Given the description of an element on the screen output the (x, y) to click on. 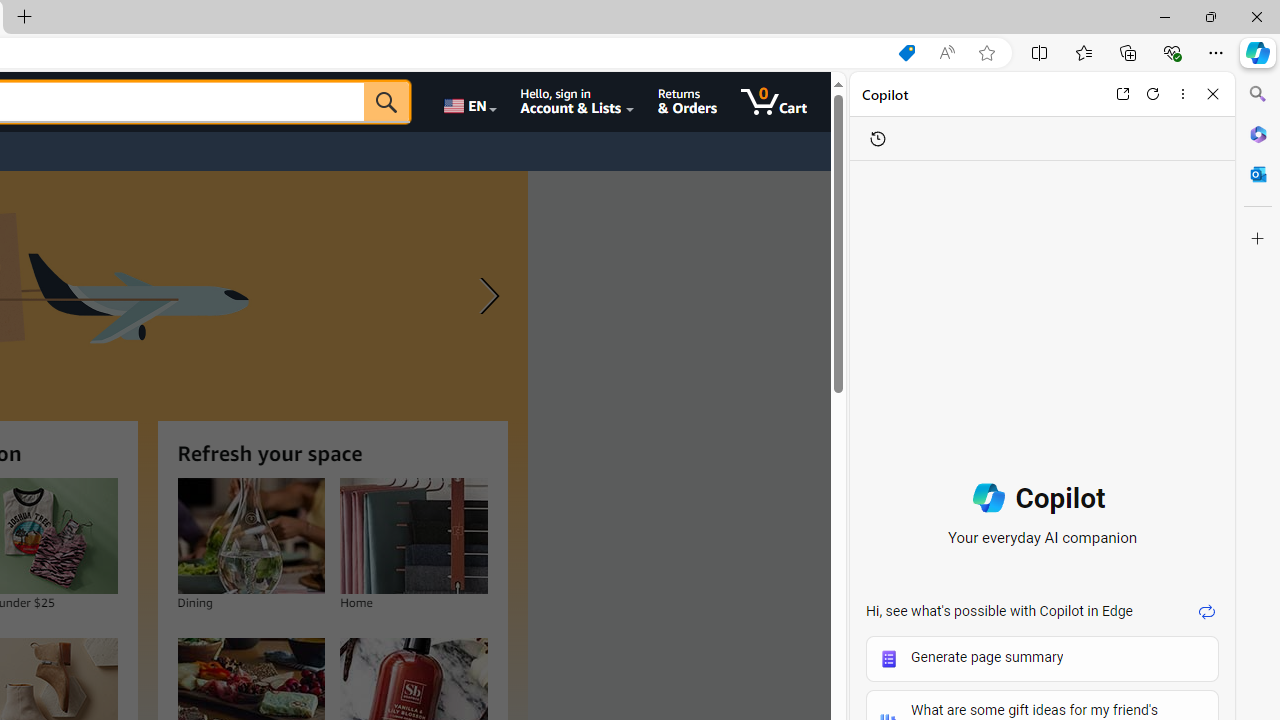
Dining (250, 536)
Hello, sign in Account & Lists (576, 101)
Choose a language for shopping. (468, 101)
Next slide (484, 296)
0 items in cart (774, 101)
